Given the description of an element on the screen output the (x, y) to click on. 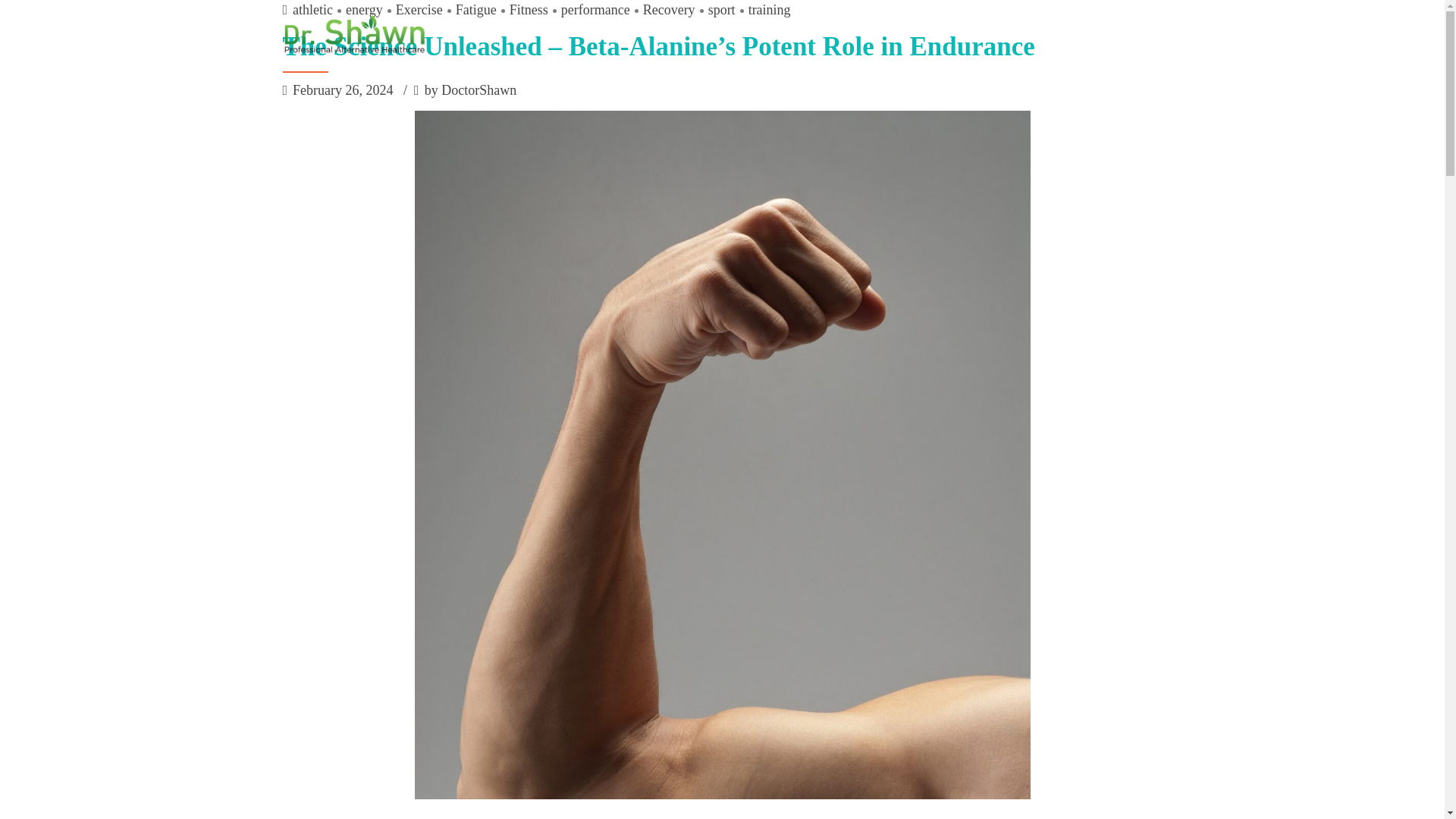
Fatigue (469, 10)
energy (357, 10)
performance (589, 10)
Fitness (522, 10)
Exercise (412, 10)
Recovery (662, 10)
athletic (312, 10)
